Given the description of an element on the screen output the (x, y) to click on. 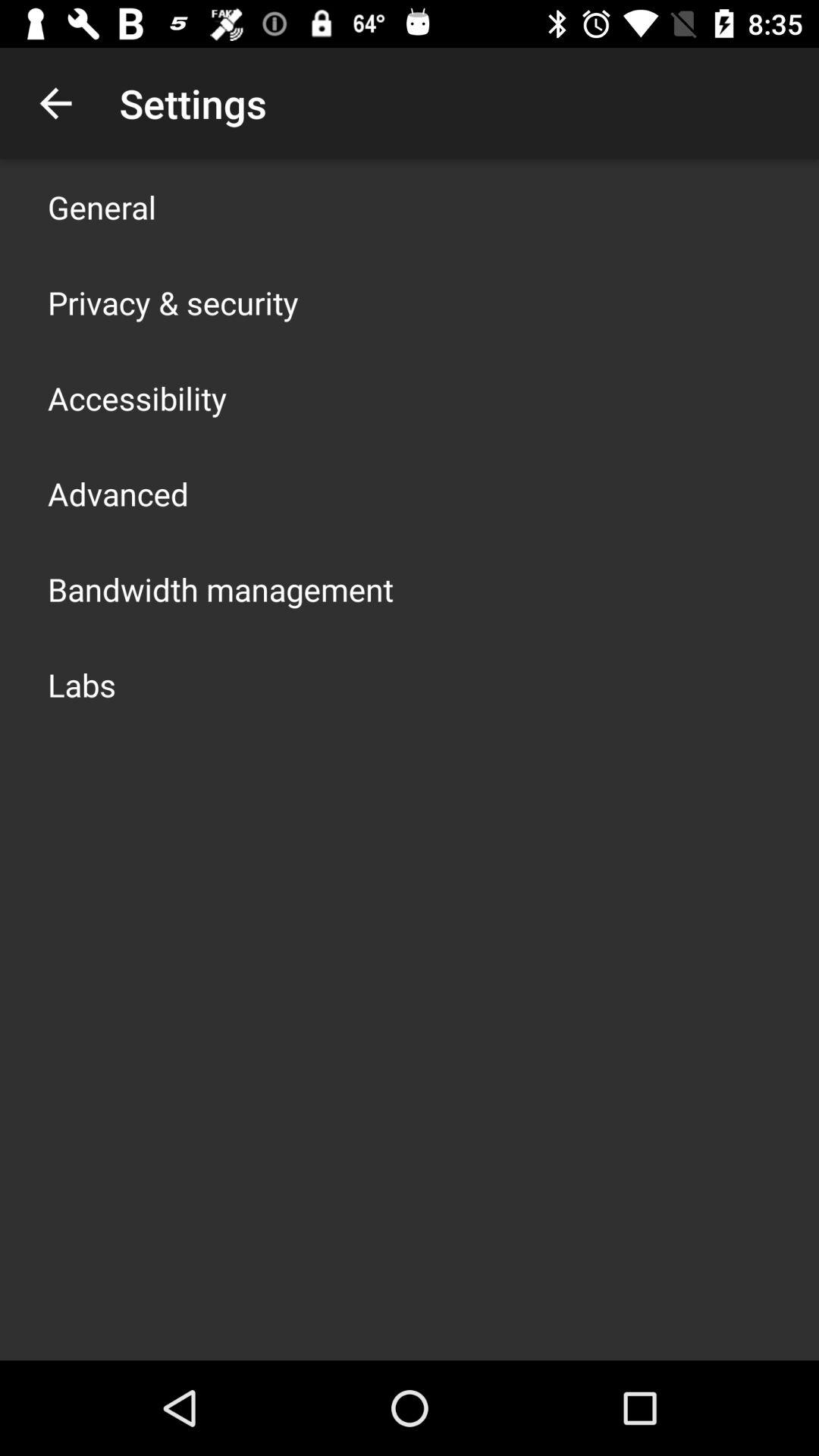
launch the app above the general (55, 103)
